Given the description of an element on the screen output the (x, y) to click on. 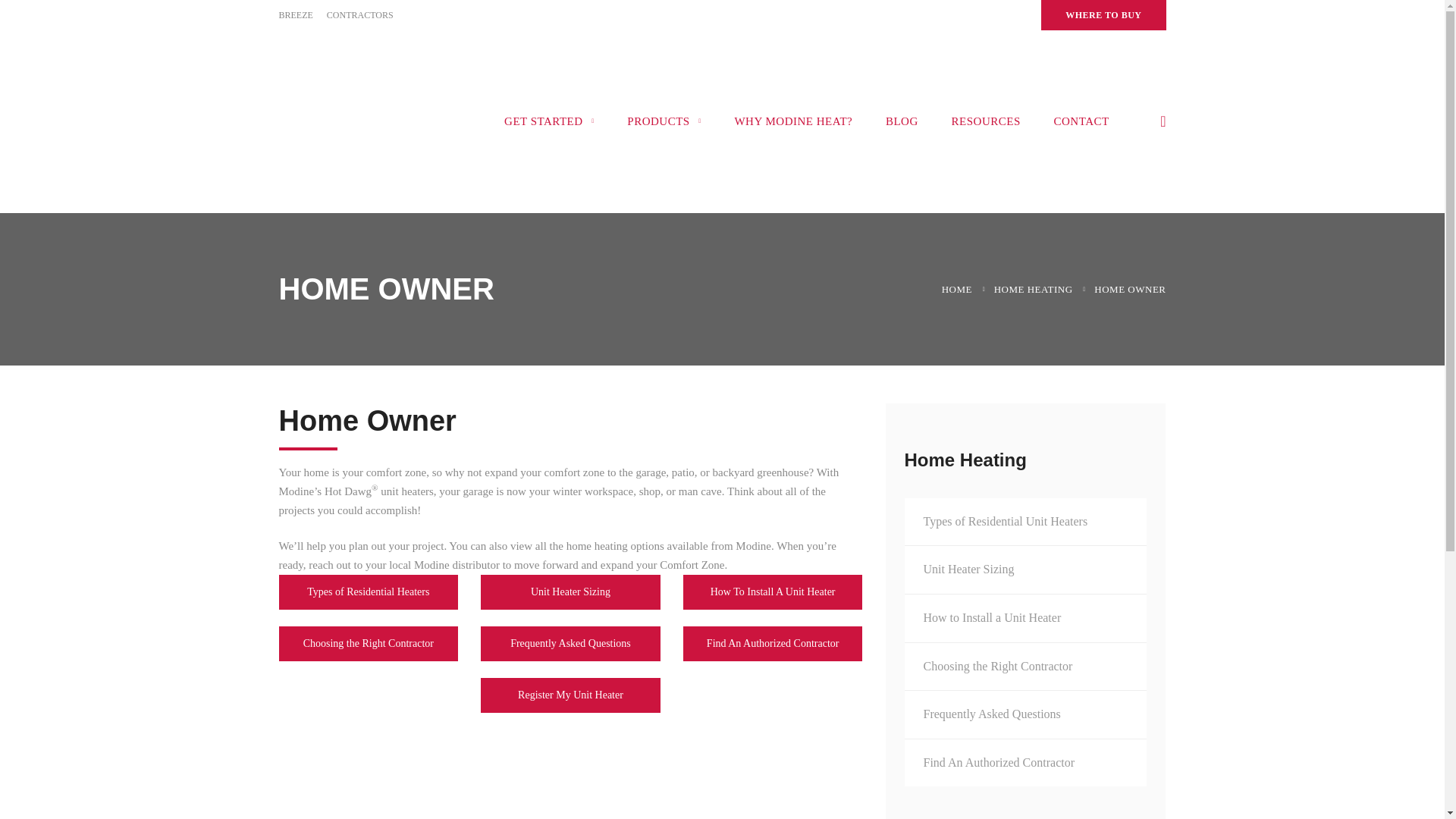
Contact Us (798, 745)
Choosing the Right Contractor (1025, 666)
Register My Unit Heater (570, 695)
PRODUCTS (663, 121)
Types of Residential Unit Heaters (1025, 521)
Frequently Asked Questions (1025, 714)
Find An Authorized Contractor (772, 643)
HOME (957, 288)
Find An Authorized Contractor (1025, 762)
Unit Heater Sizing (570, 591)
BLOG (901, 121)
WHY MODINE HEAT? (793, 121)
RESOURCES (985, 121)
CONTACT US (798, 745)
How to Install a Unit Heater (1025, 617)
